Given the description of an element on the screen output the (x, y) to click on. 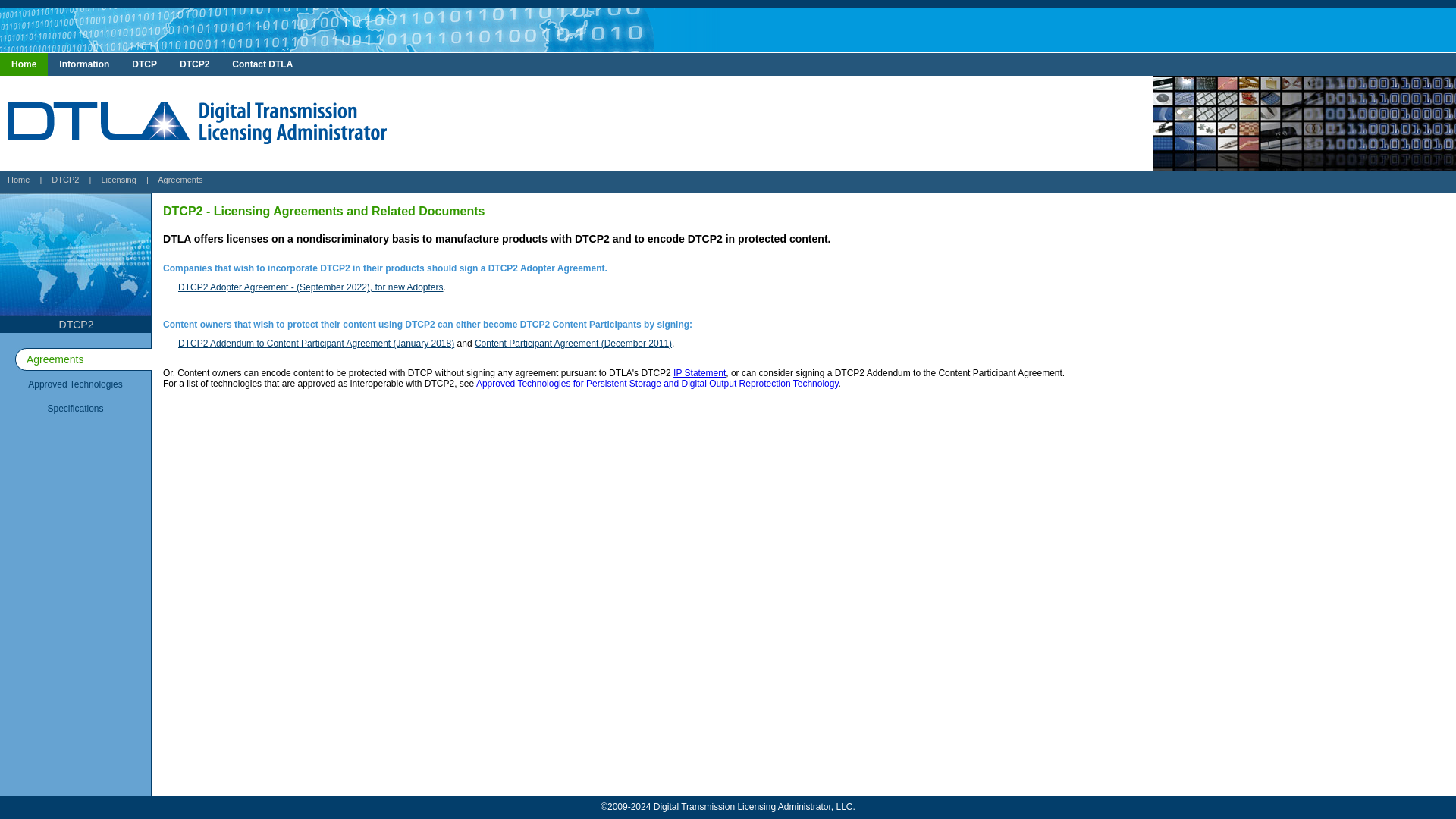
Information (84, 64)
Approved Technologies (75, 383)
DTCP (144, 64)
Specifications (75, 408)
Contact DTLA (262, 64)
DTCP2 (194, 64)
Home (24, 64)
IP Statement (698, 372)
Home (18, 179)
